Given the description of an element on the screen output the (x, y) to click on. 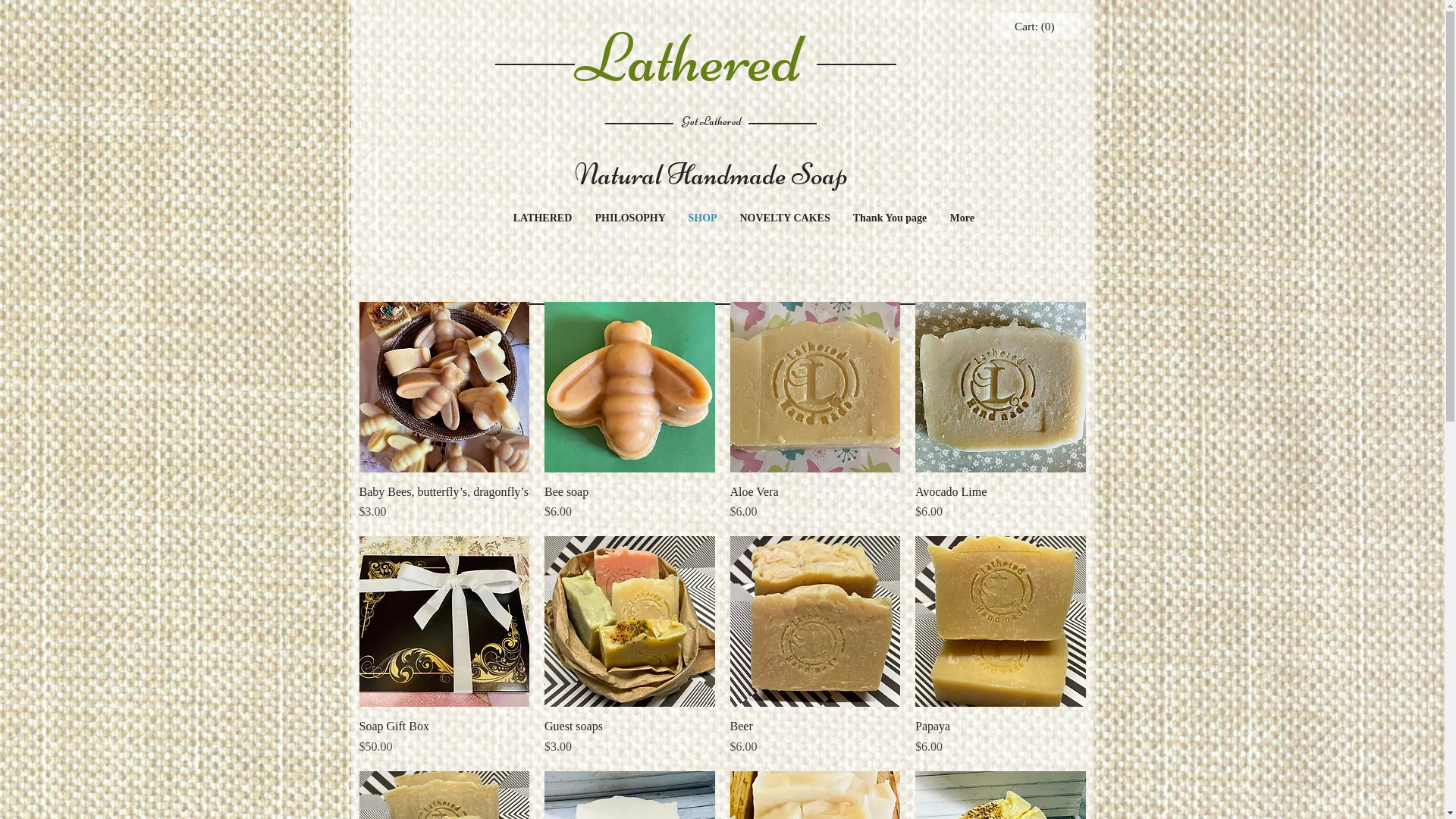
Avocado Lime
Price
$6.00 Element type: text (1000, 501)
Beer
Price
$6.00 Element type: text (814, 737)
Papaya
Price
$6.00 Element type: text (1000, 737)
Bee soap
Price
$6.00 Element type: text (629, 501)
Guest soaps
Price
$3.00 Element type: text (629, 737)
NOVELTY CAKES Element type: text (784, 218)
Soap Gift Box
Price
$50.00 Element type: text (444, 737)
Thank You page Element type: text (889, 218)
Cart: (0) Element type: text (1035, 26)
SHOP Element type: text (702, 218)
Aloe Vera
Price
$6.00 Element type: text (814, 501)
LATHERED Element type: text (542, 218)
PHILOSOPHY Element type: text (630, 218)
